Given the description of an element on the screen output the (x, y) to click on. 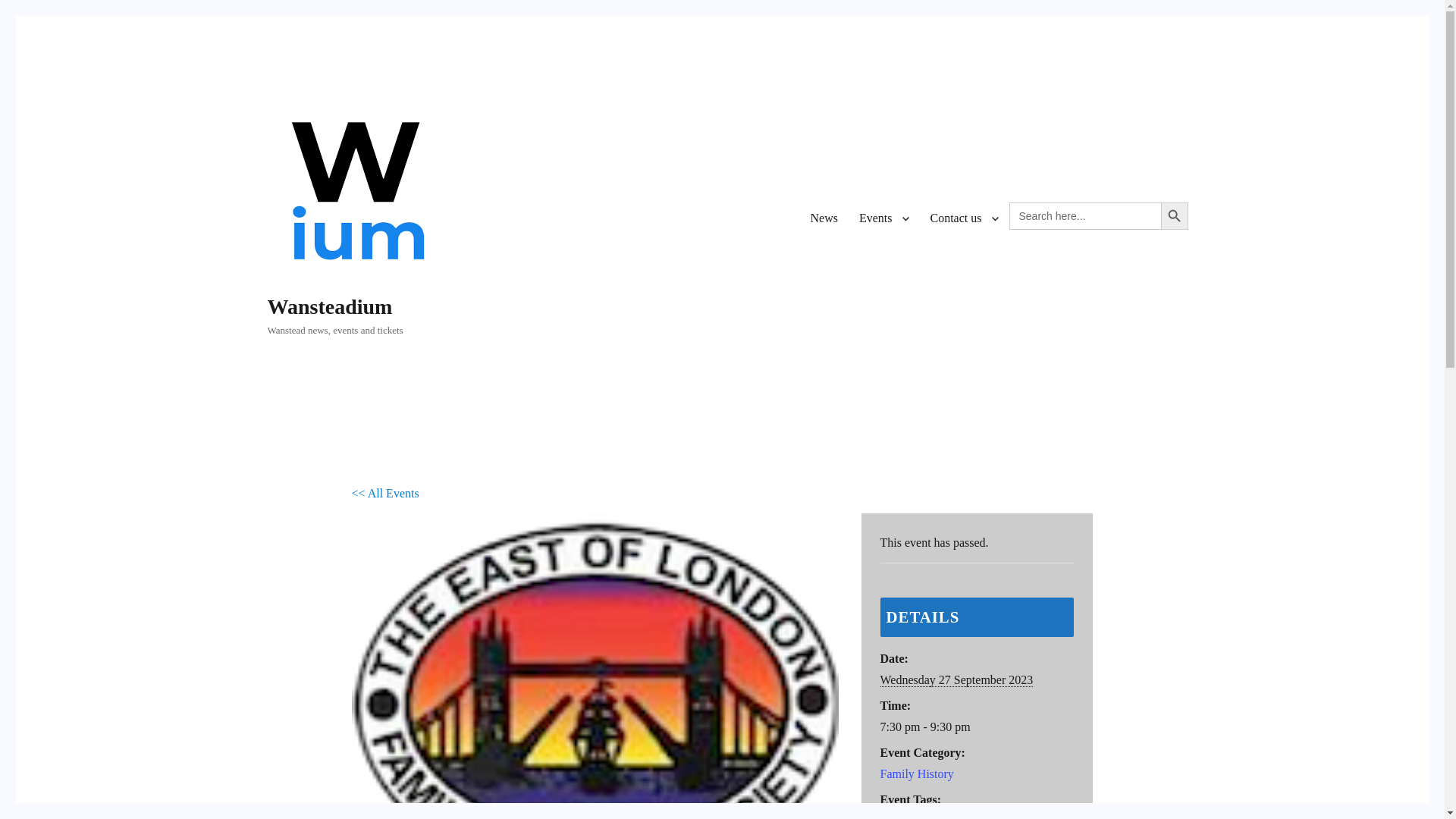
News (823, 218)
Events (884, 218)
history (895, 816)
wansteadlibrary (956, 816)
SEARCH BUTTON (1174, 216)
Contact us (963, 218)
2023-09-27 (955, 680)
Wansteadium (328, 306)
2023-09-27 (976, 726)
Family History (916, 773)
